Given the description of an element on the screen output the (x, y) to click on. 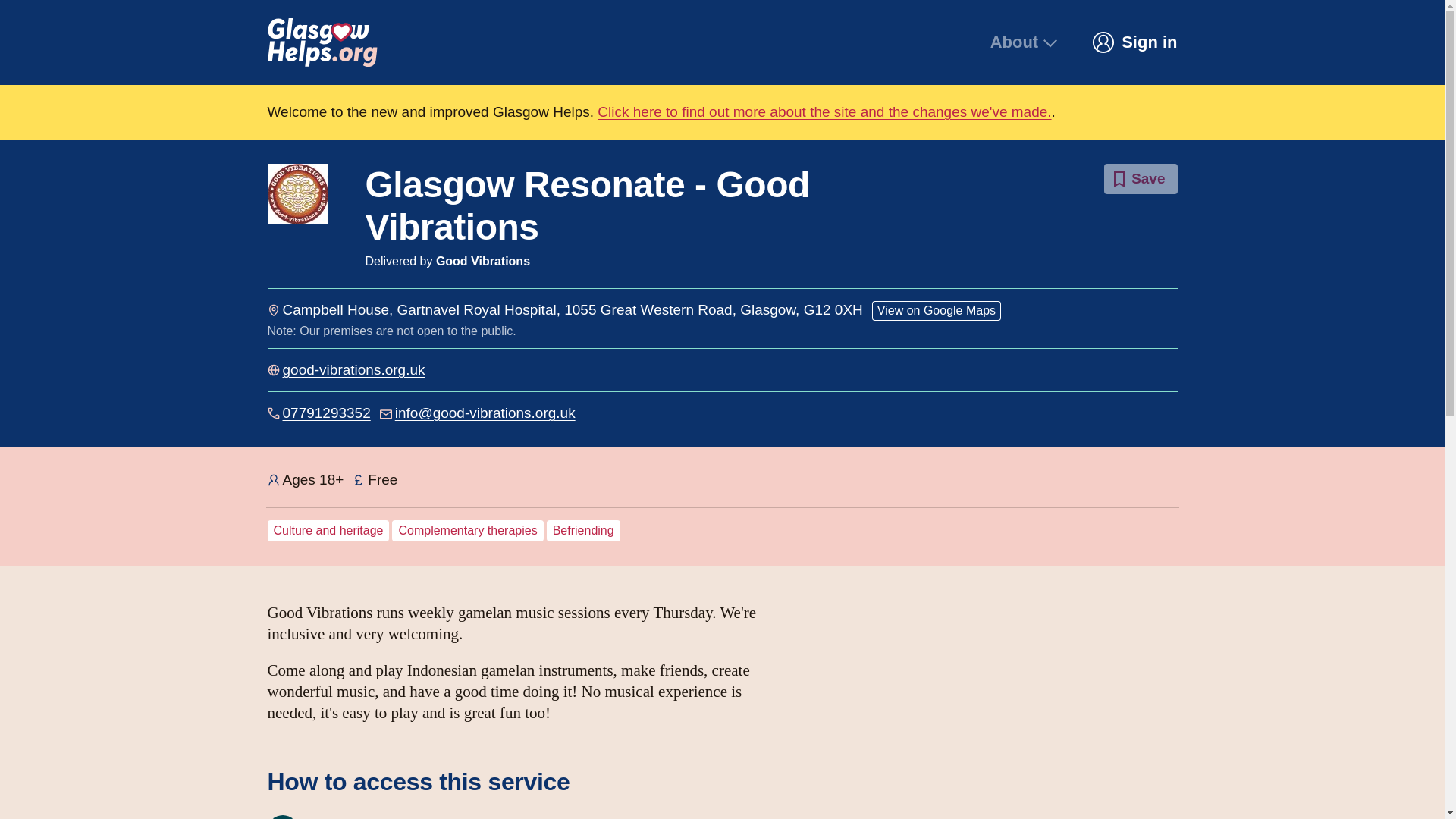
good-vibrations.org.uk (353, 370)
View on Google Maps (936, 311)
Save (1139, 178)
Sign in (1134, 42)
About (1024, 42)
07791293352 (325, 413)
